Given the description of an element on the screen output the (x, y) to click on. 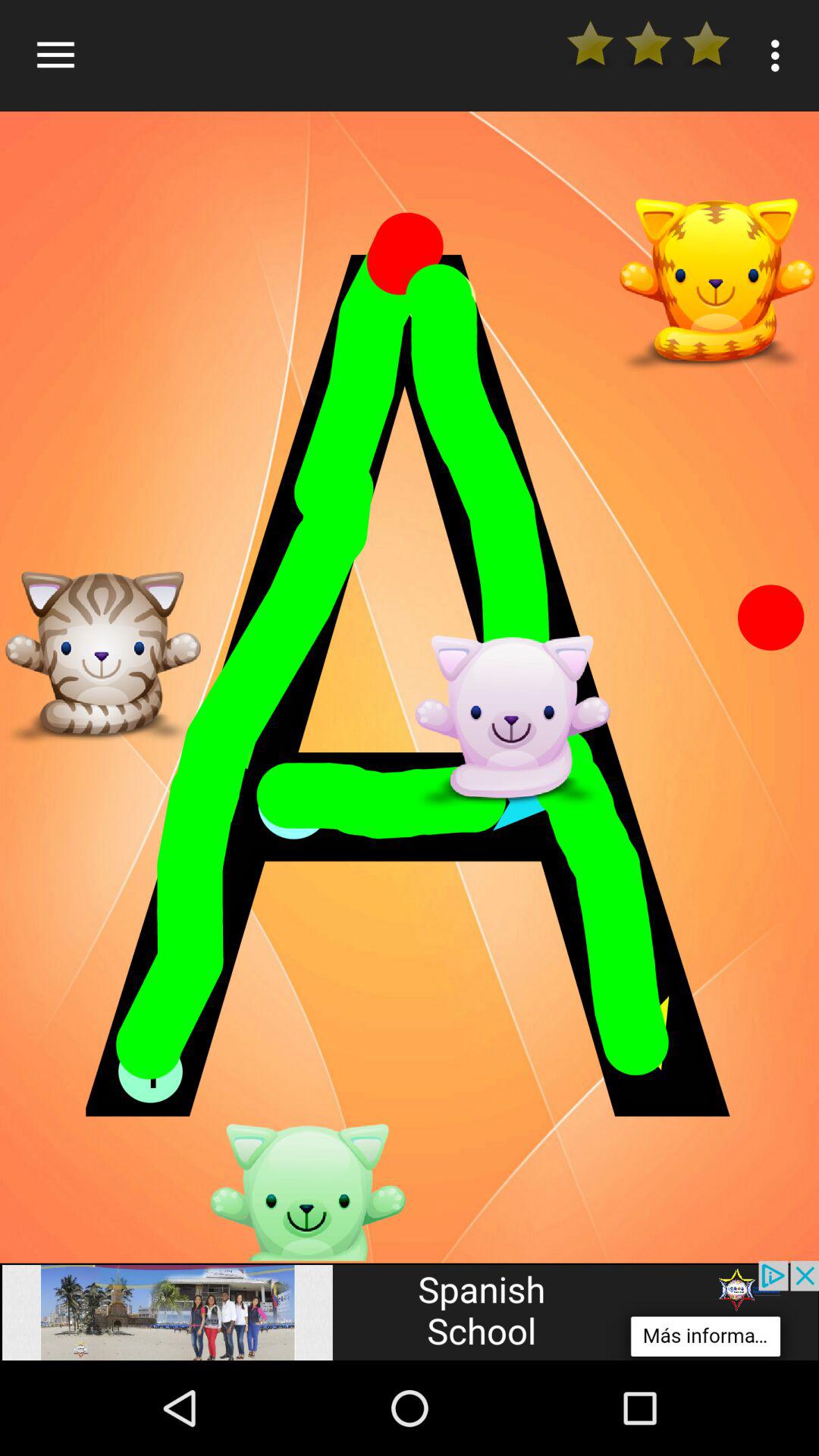
adsence (409, 1310)
